Given the description of an element on the screen output the (x, y) to click on. 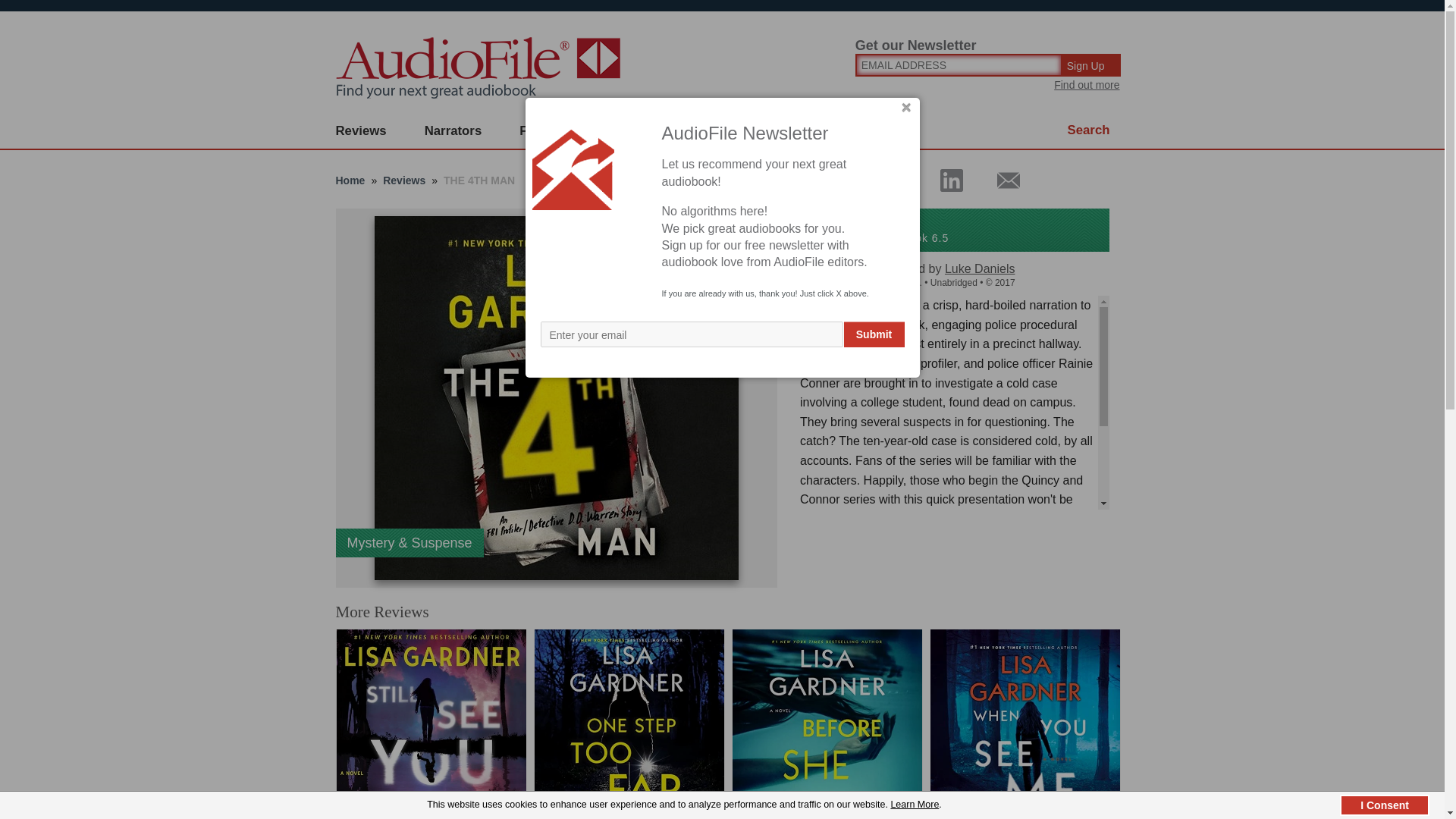
AudioFileMagazine - Share by Email (999, 180)
Find out more (1086, 84)
Submit (873, 334)
Subscribe (640, 131)
Features (545, 131)
Reviews (360, 131)
Sign Up (1091, 65)
About (727, 131)
Articles (808, 131)
Search (1089, 130)
Narrators (453, 131)
